Given the description of an element on the screen output the (x, y) to click on. 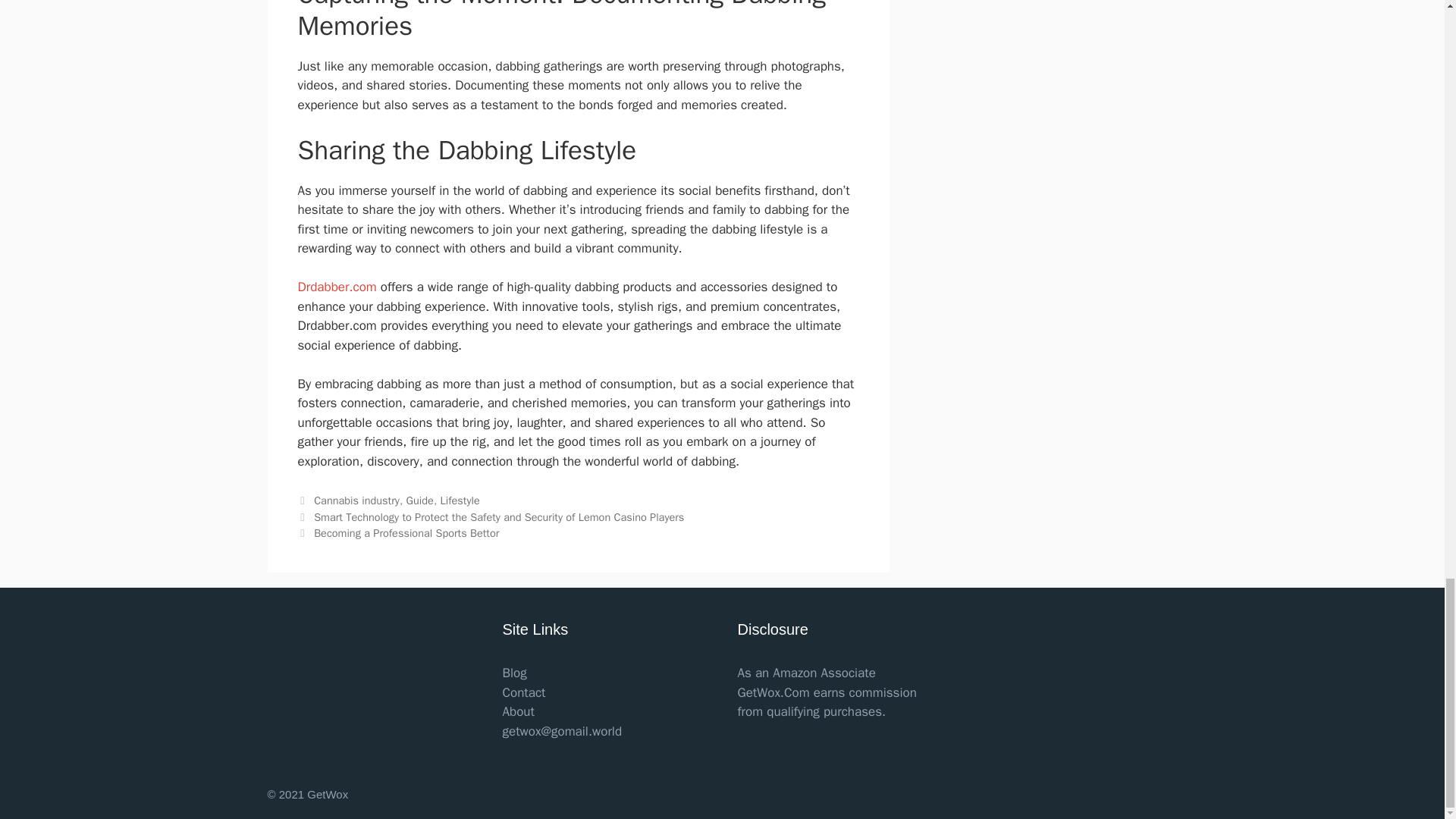
Becoming a Professional Sports Bettor (406, 532)
Lifestyle (460, 499)
Guide (419, 499)
Contact (523, 692)
Cannabis industry (356, 499)
About (518, 711)
Blog (513, 672)
Drdabber.com (336, 286)
